Given the description of an element on the screen output the (x, y) to click on. 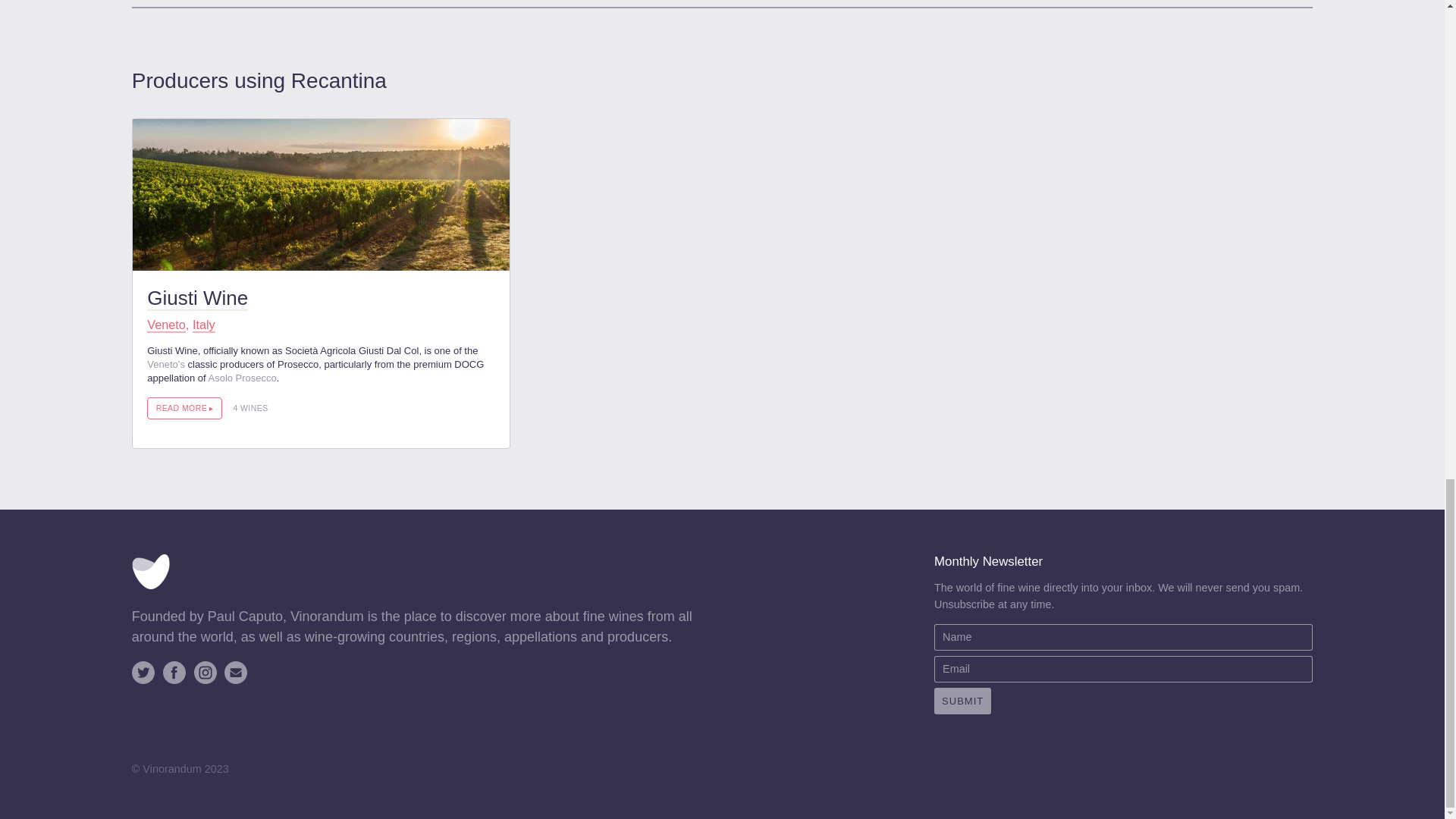
Giusti Wine (197, 298)
Italy (203, 324)
Veneto (166, 324)
Submit (962, 700)
